Given the description of an element on the screen output the (x, y) to click on. 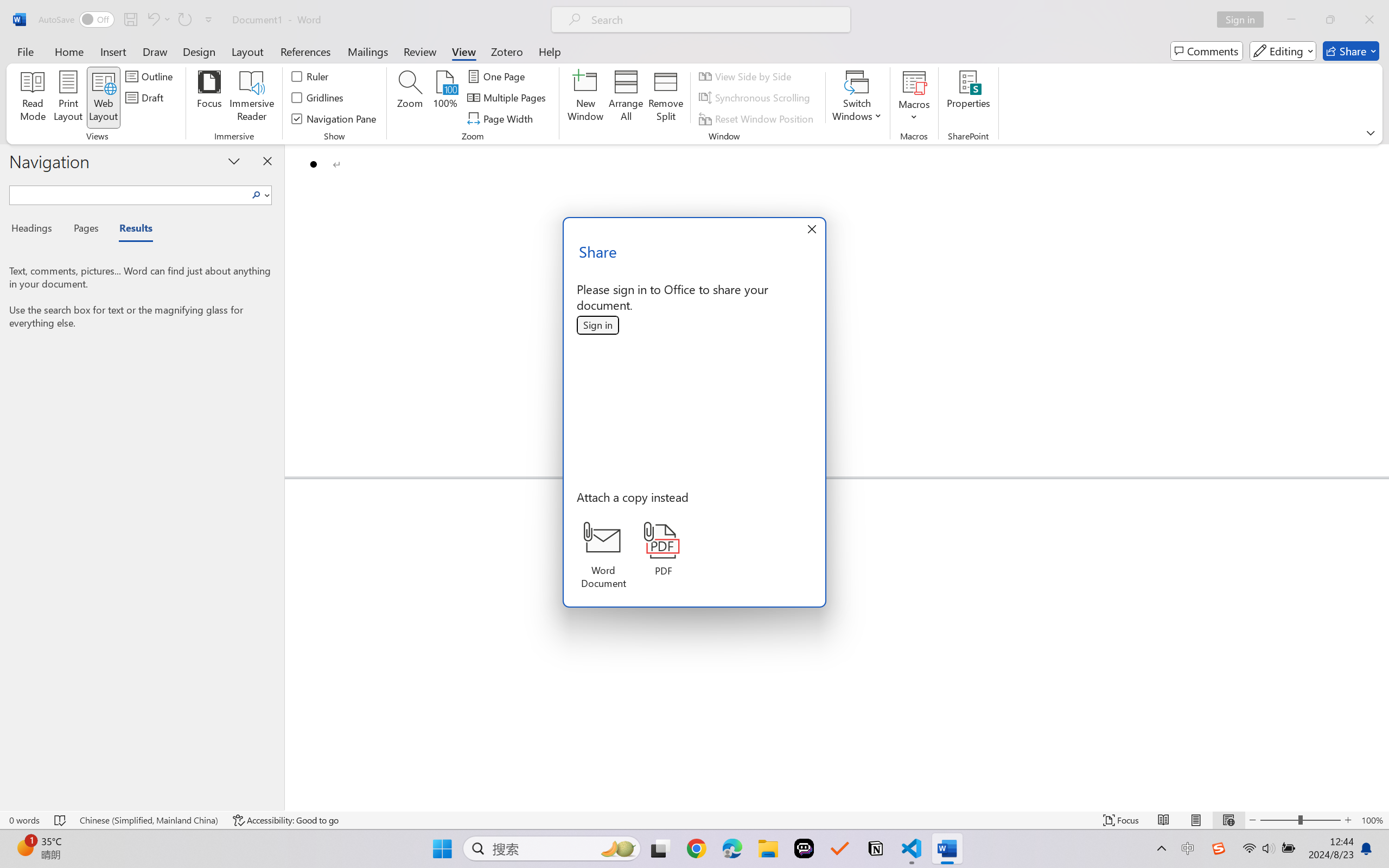
Zoom... (409, 97)
Undo Bullet Default (158, 19)
Navigation Pane (334, 118)
